Given the description of an element on the screen output the (x, y) to click on. 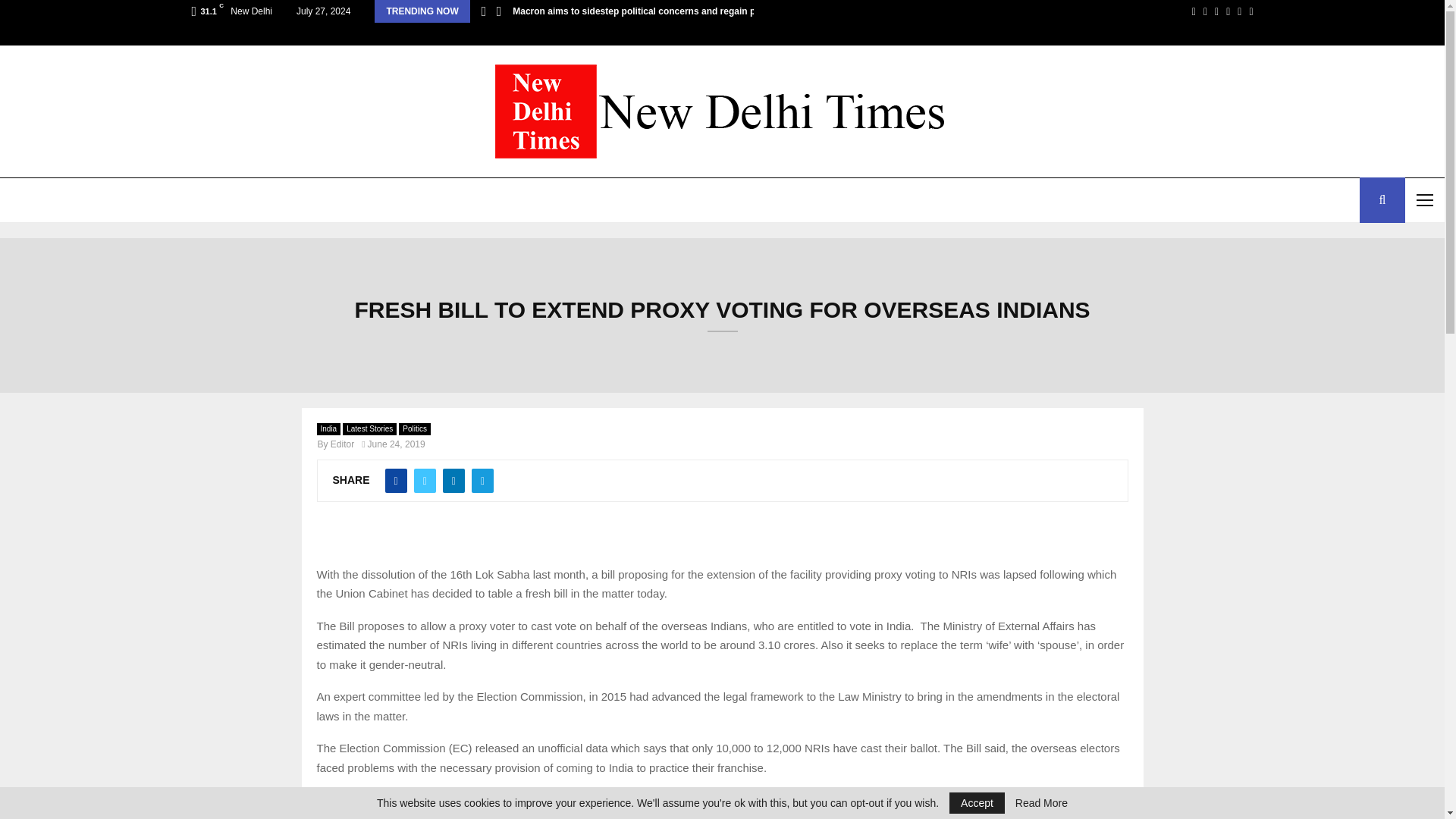
Click to share on Facebook (389, 802)
Click to share on LinkedIn (419, 802)
Click to print (359, 802)
Click to email a link to a friend (328, 802)
